Given the description of an element on the screen output the (x, y) to click on. 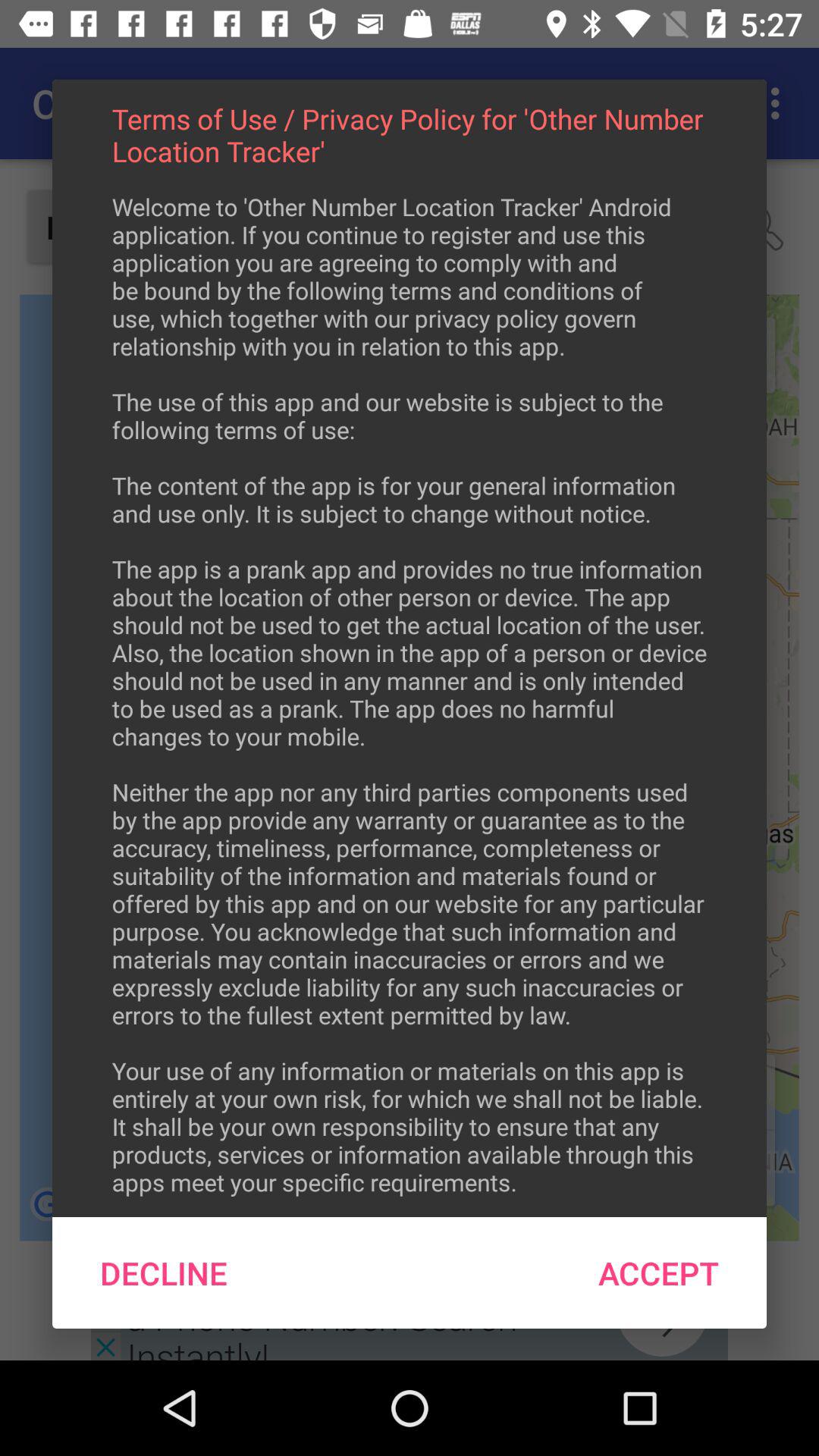
launch accept at the bottom right corner (658, 1272)
